Given the description of an element on the screen output the (x, y) to click on. 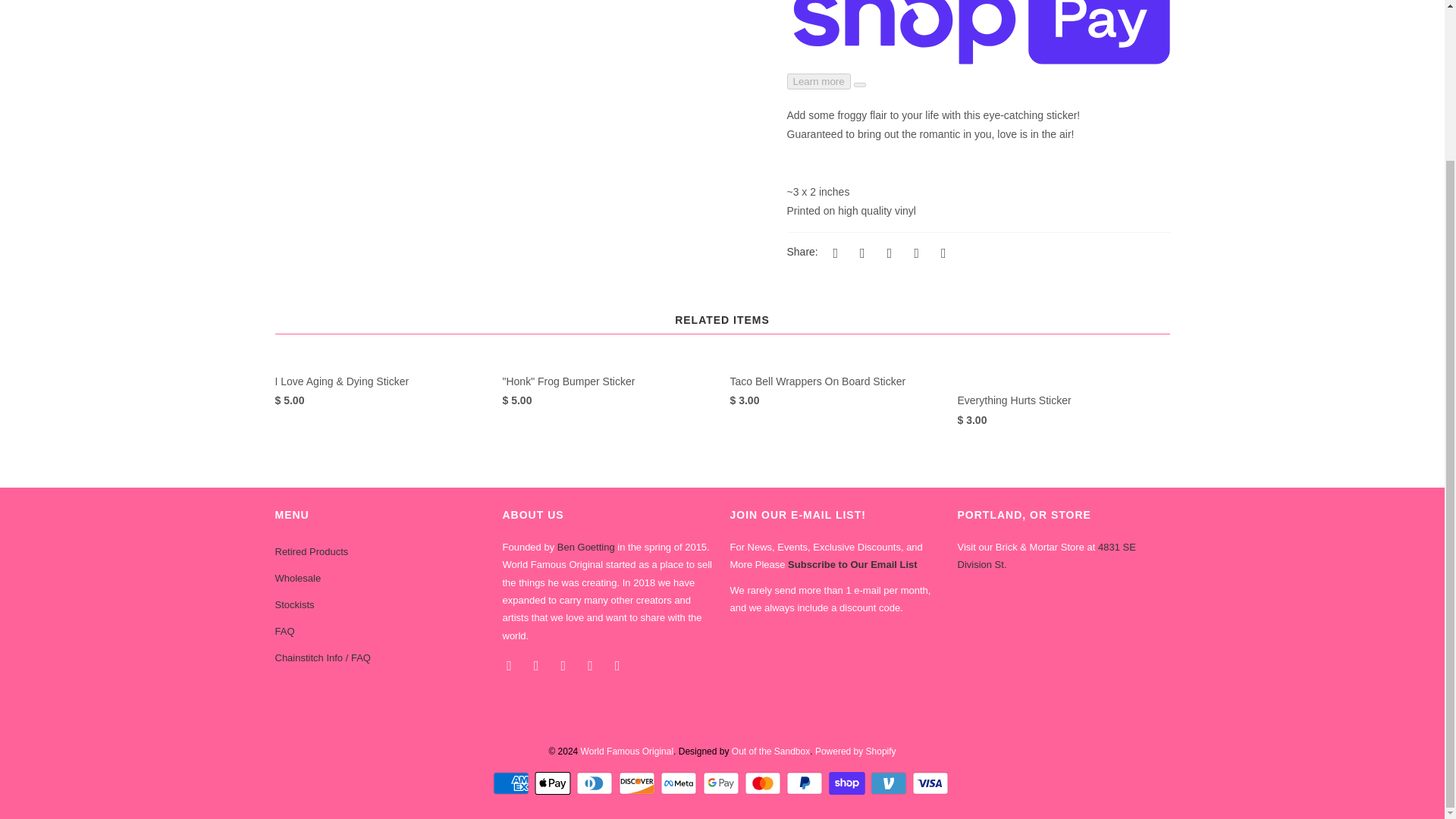
PayPal (805, 783)
World Famous Original on Facebook (510, 664)
Shop Pay (847, 783)
Email this to a friend (940, 252)
Mastercard (764, 783)
Ben Goetting (585, 546)
World Famous Original on Instagram (591, 664)
Share this on Facebook (859, 252)
Discover (638, 783)
Share this on Pinterest (887, 252)
Meta Pay (680, 783)
Visa (932, 783)
American Express (512, 783)
Venmo (890, 783)
Google Pay (721, 783)
